Given the description of an element on the screen output the (x, y) to click on. 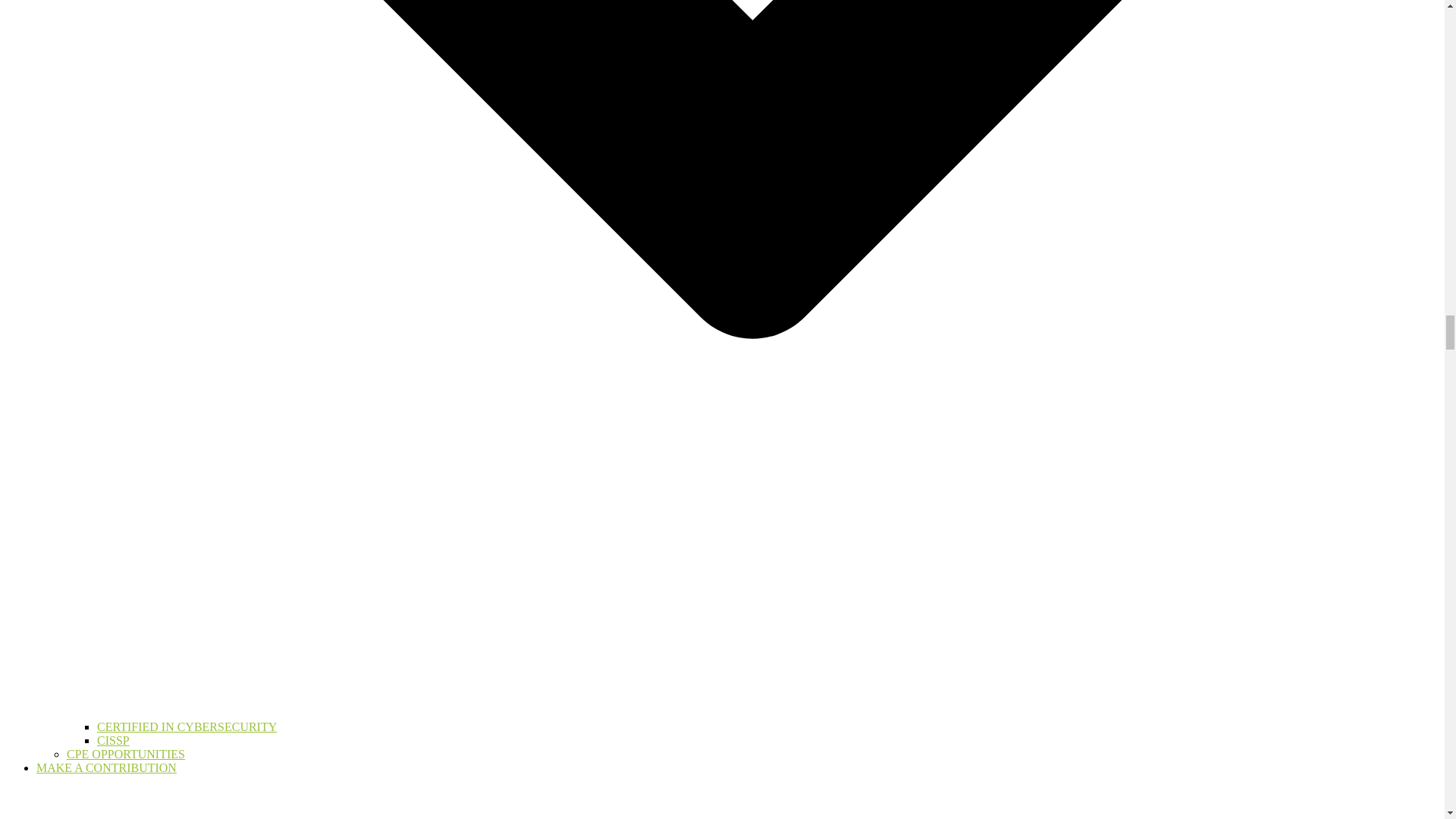
CERTIFIED IN CYBERSECURITY (186, 726)
CISSP (113, 739)
CISSP (113, 739)
CPE OPPORTUNITIES (125, 753)
CPE OPPORTUNITIES (125, 753)
CERTIFIED IN CYBERSECURITY (186, 726)
